Given the description of an element on the screen output the (x, y) to click on. 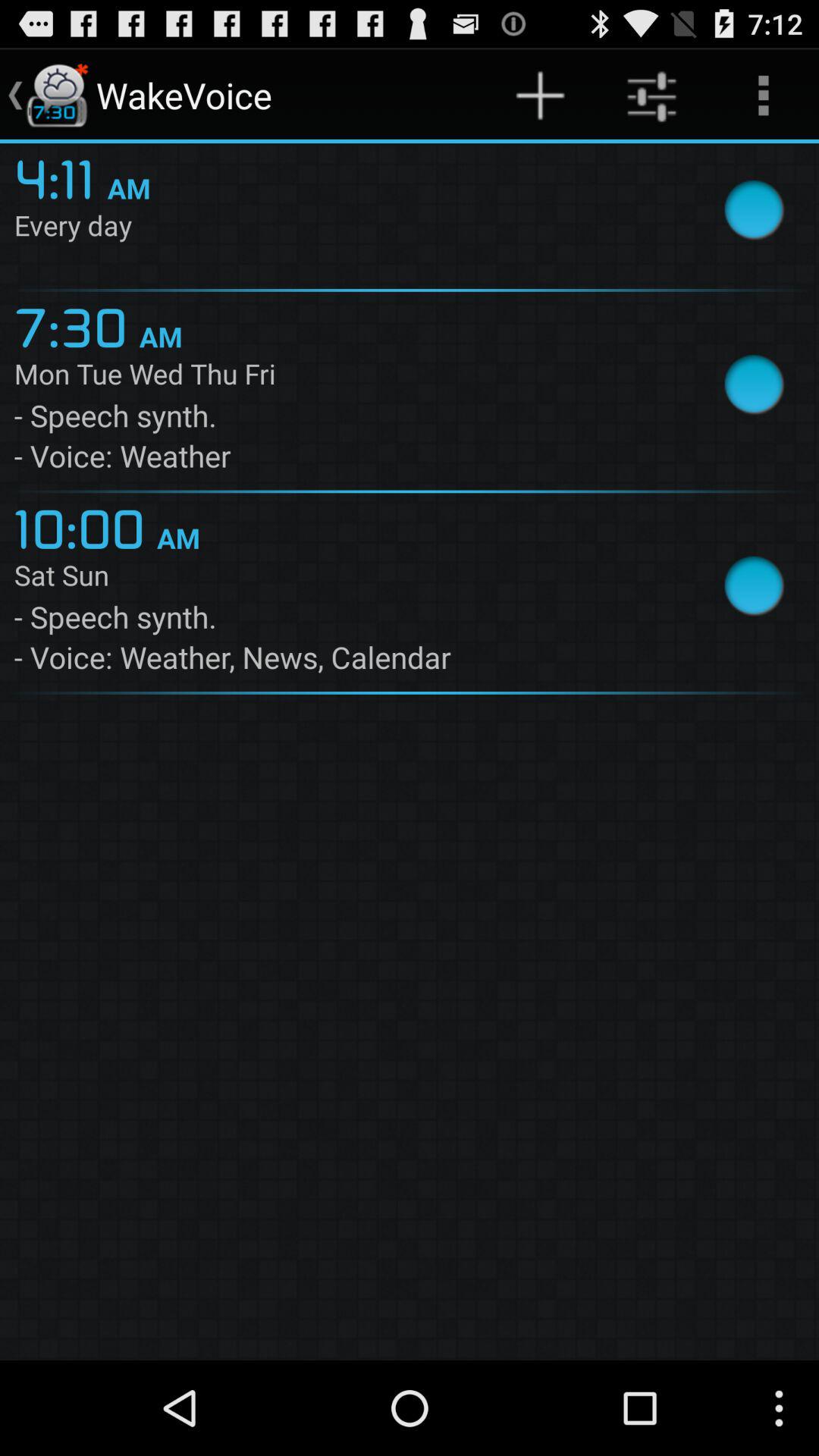
turn off the item below every day (76, 324)
